Given the description of an element on the screen output the (x, y) to click on. 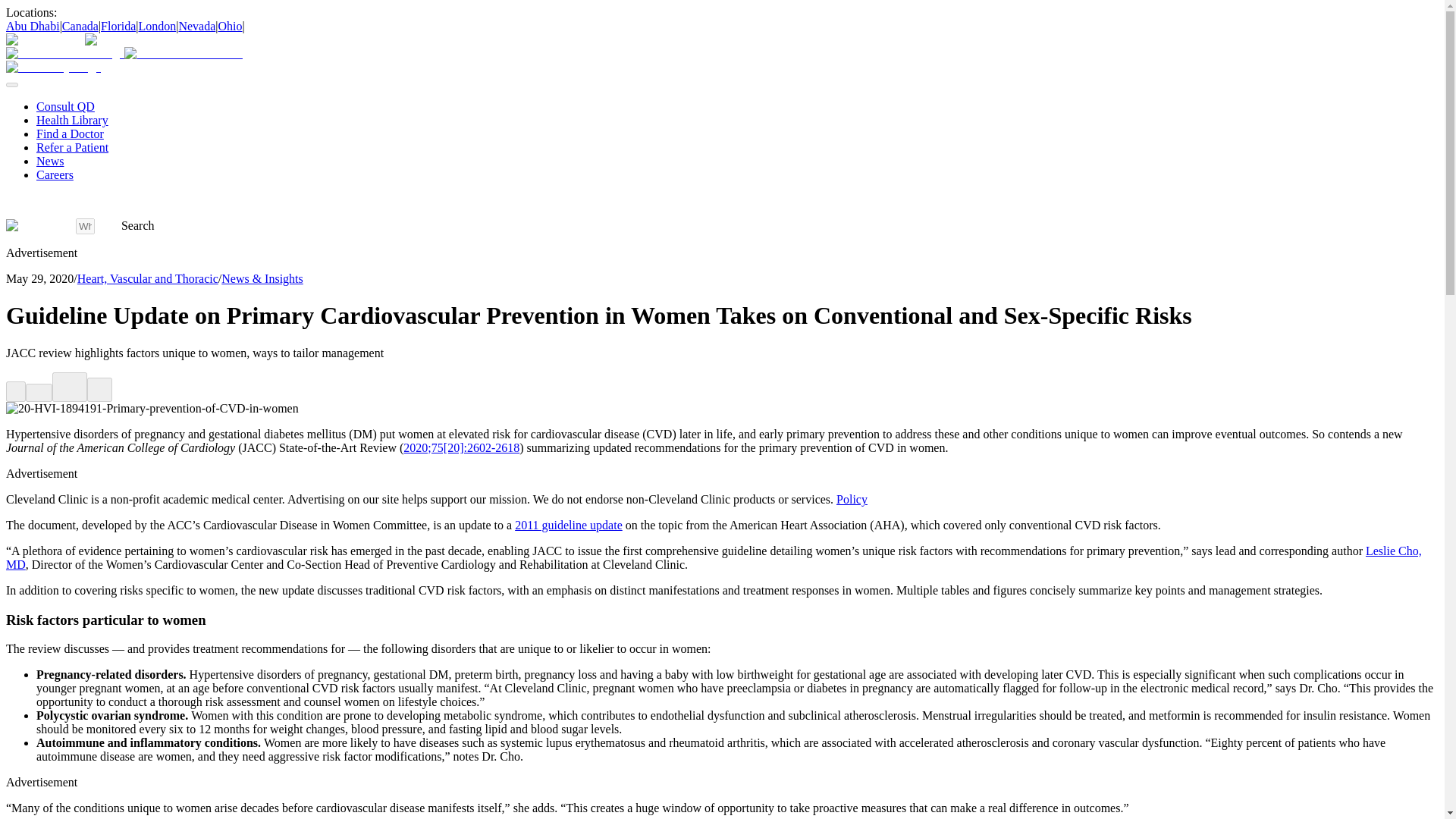
Careers (55, 174)
Heart, Vascular and Thoracic (147, 278)
2011 guideline update (569, 524)
Canada (80, 25)
Nevada (196, 25)
Florida (117, 25)
Policy (851, 499)
Consult QD (65, 106)
Health Library (71, 119)
Refer a Patient (71, 146)
Leslie Cho, MD (713, 557)
Abu Dhabi (32, 25)
Ohio (230, 25)
Find a Doctor (69, 133)
London (157, 25)
